Given the description of an element on the screen output the (x, y) to click on. 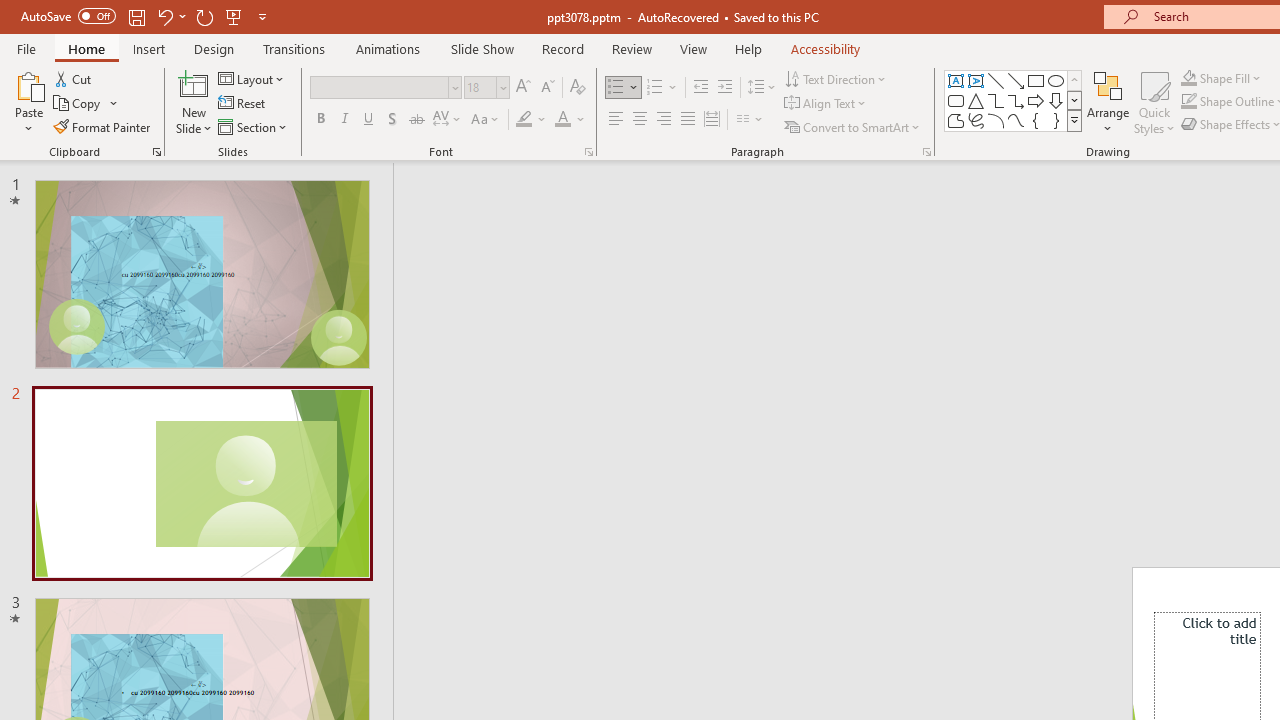
Distributed (712, 119)
Arrow: Down (1055, 100)
Font (385, 87)
Shape Fill Dark Green, Accent 2 (1188, 78)
Font... (588, 151)
Bullets (616, 87)
Arc (995, 120)
Isosceles Triangle (975, 100)
Font Color (569, 119)
Connector: Elbow Arrow (1016, 100)
Arrow: Right (1035, 100)
Line (995, 80)
Align Text (826, 103)
